Given the description of an element on the screen output the (x, y) to click on. 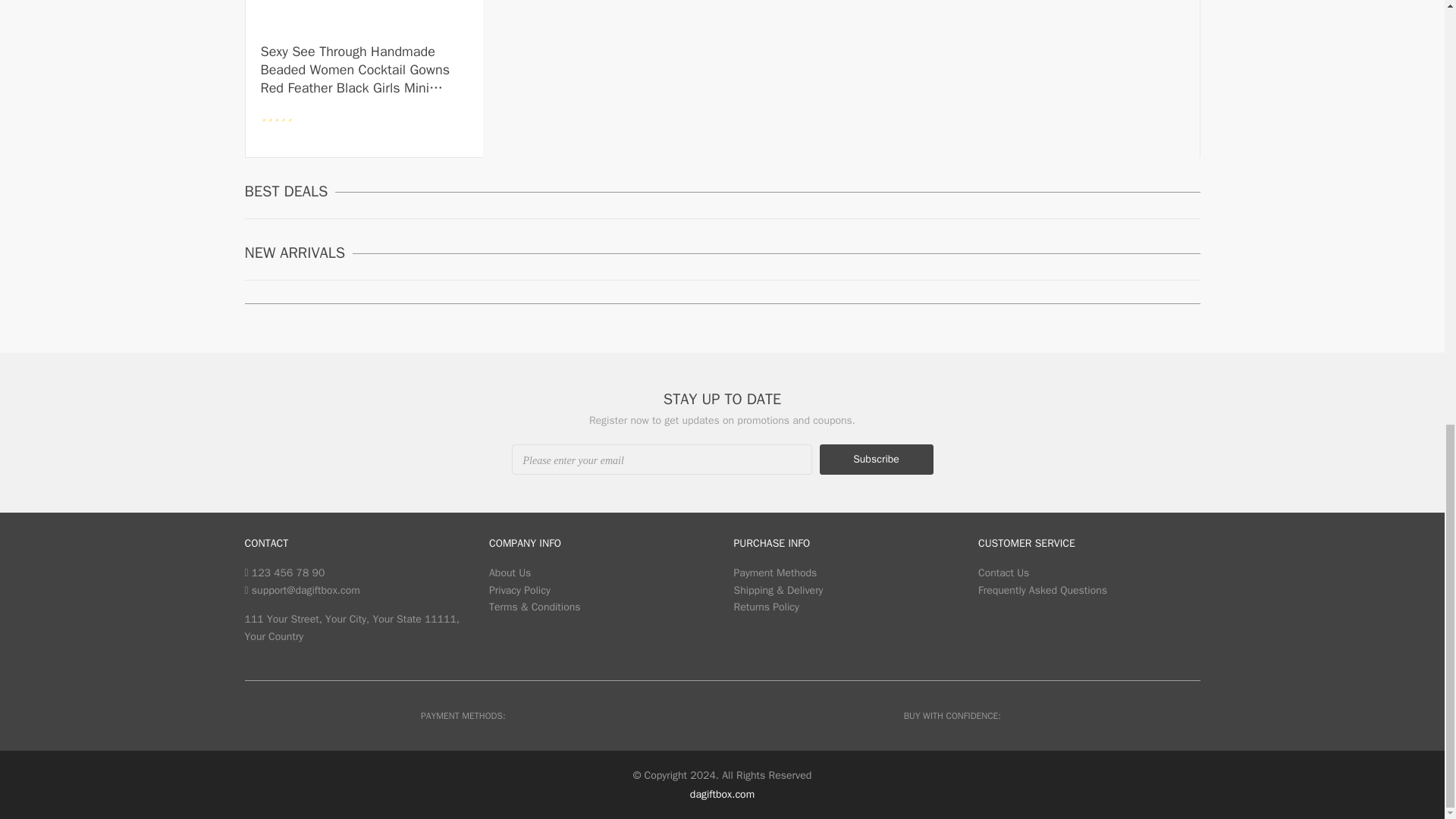
Privacy Policy (519, 590)
Frequently Asked Questions (1042, 590)
Subscribe (875, 459)
Subscribe (875, 459)
Returns Policy (766, 606)
BEST DEALS (289, 190)
About Us (510, 572)
Payment Methods (774, 572)
Contact Us (1003, 572)
dagiftbox.com (722, 793)
